Given the description of an element on the screen output the (x, y) to click on. 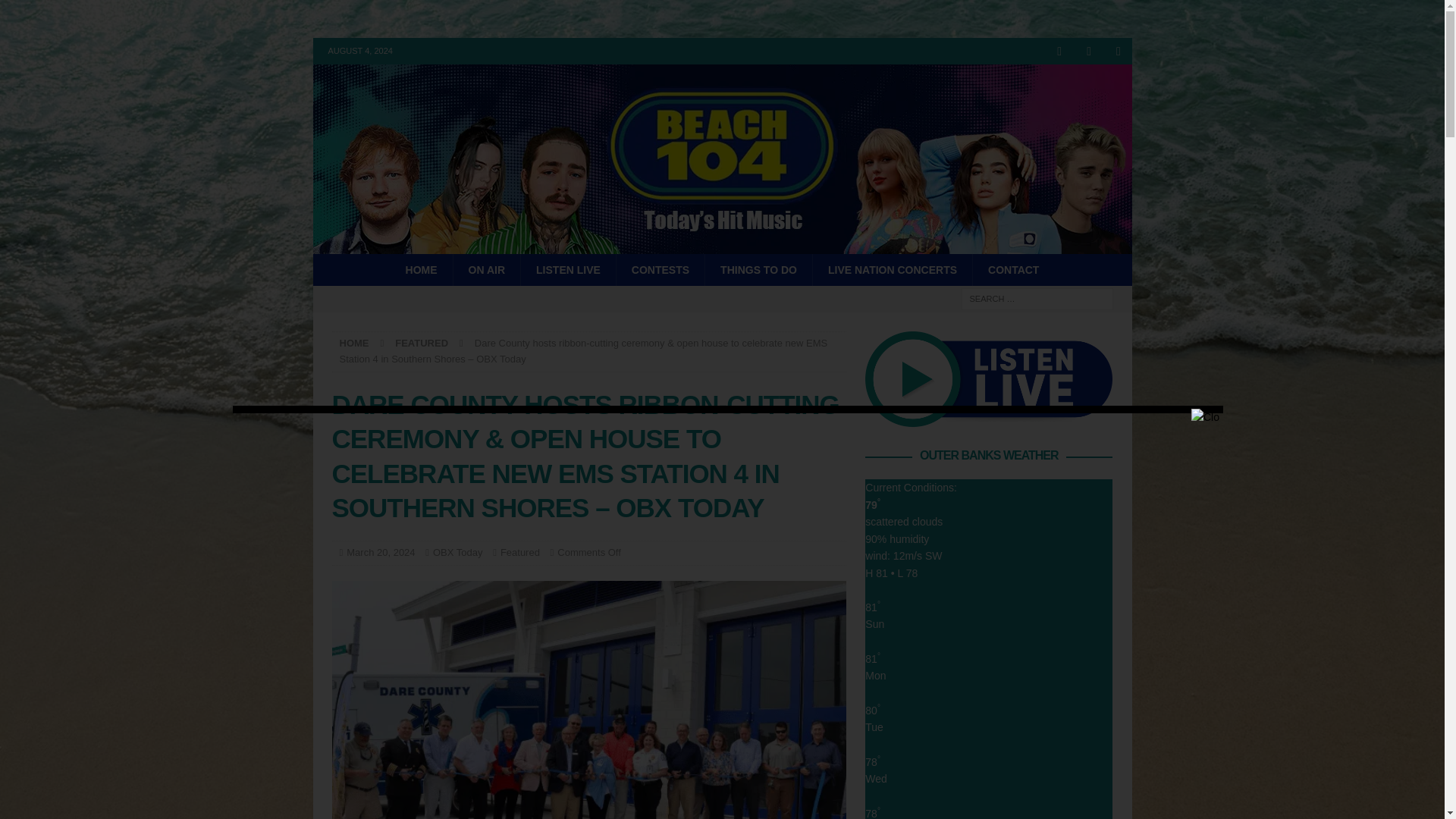
Beach 104 (722, 245)
LISTEN LIVE (567, 269)
CONTACT (1013, 269)
Featured (520, 552)
FEATURED (421, 342)
OBX Today (457, 552)
March 20, 2024 (380, 552)
Search (56, 11)
THINGS TO DO (758, 269)
HOME (421, 269)
CONTESTS (659, 269)
HOME (354, 342)
ON AIR (485, 269)
LIVE NATION CONCERTS (892, 269)
